Given the description of an element on the screen output the (x, y) to click on. 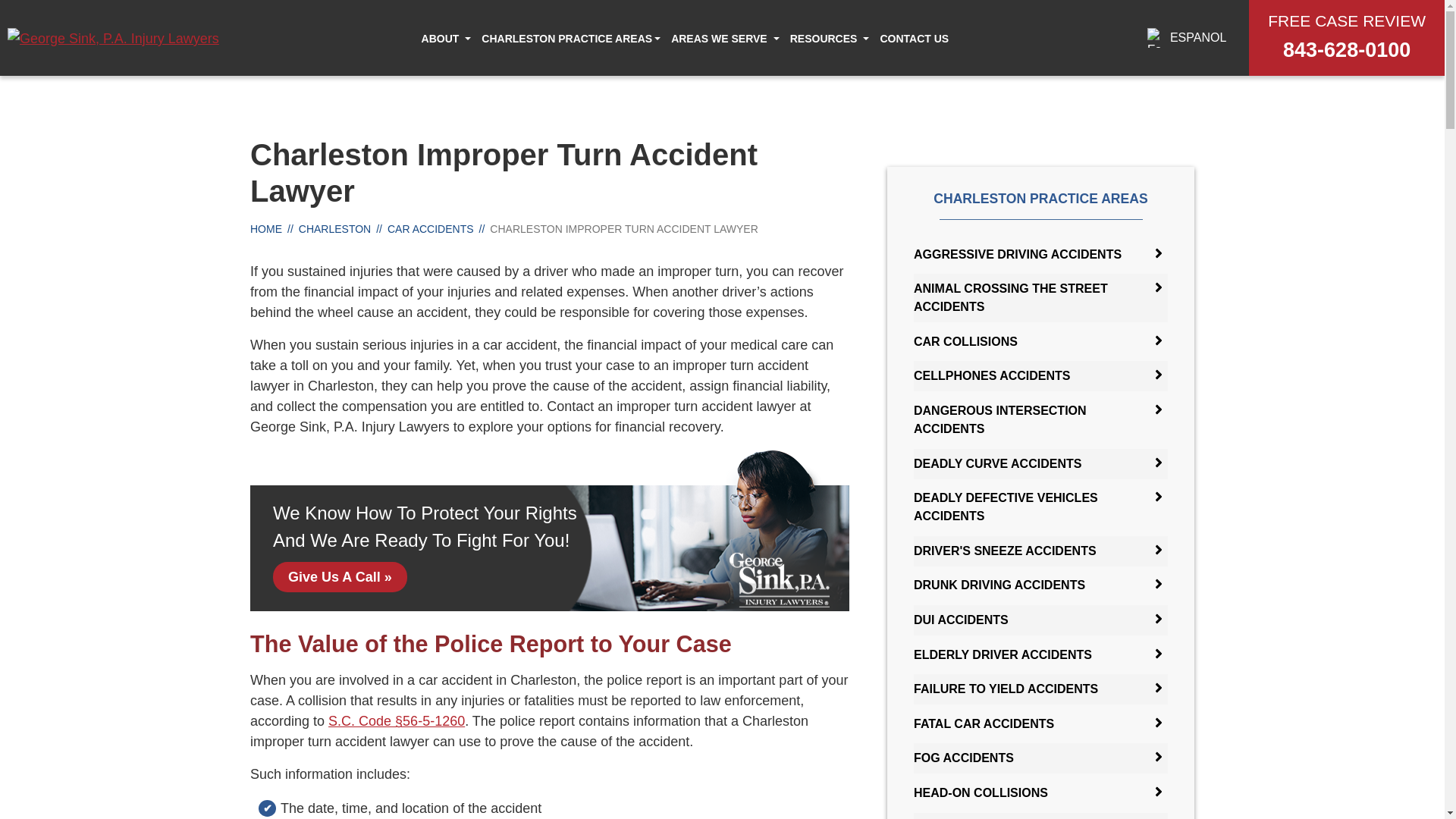
Greenville, SC (799, 74)
RESOURCES (823, 37)
AREAS WE SERVE (719, 37)
CHARLESTON PRACTICE AREAS (566, 37)
All Areas We Serve (659, 74)
Car Accidents (673, 74)
Charleston, SC (658, 74)
Our Attorneys (449, 74)
ABOUT (441, 37)
Blog (832, 74)
